Given the description of an element on the screen output the (x, y) to click on. 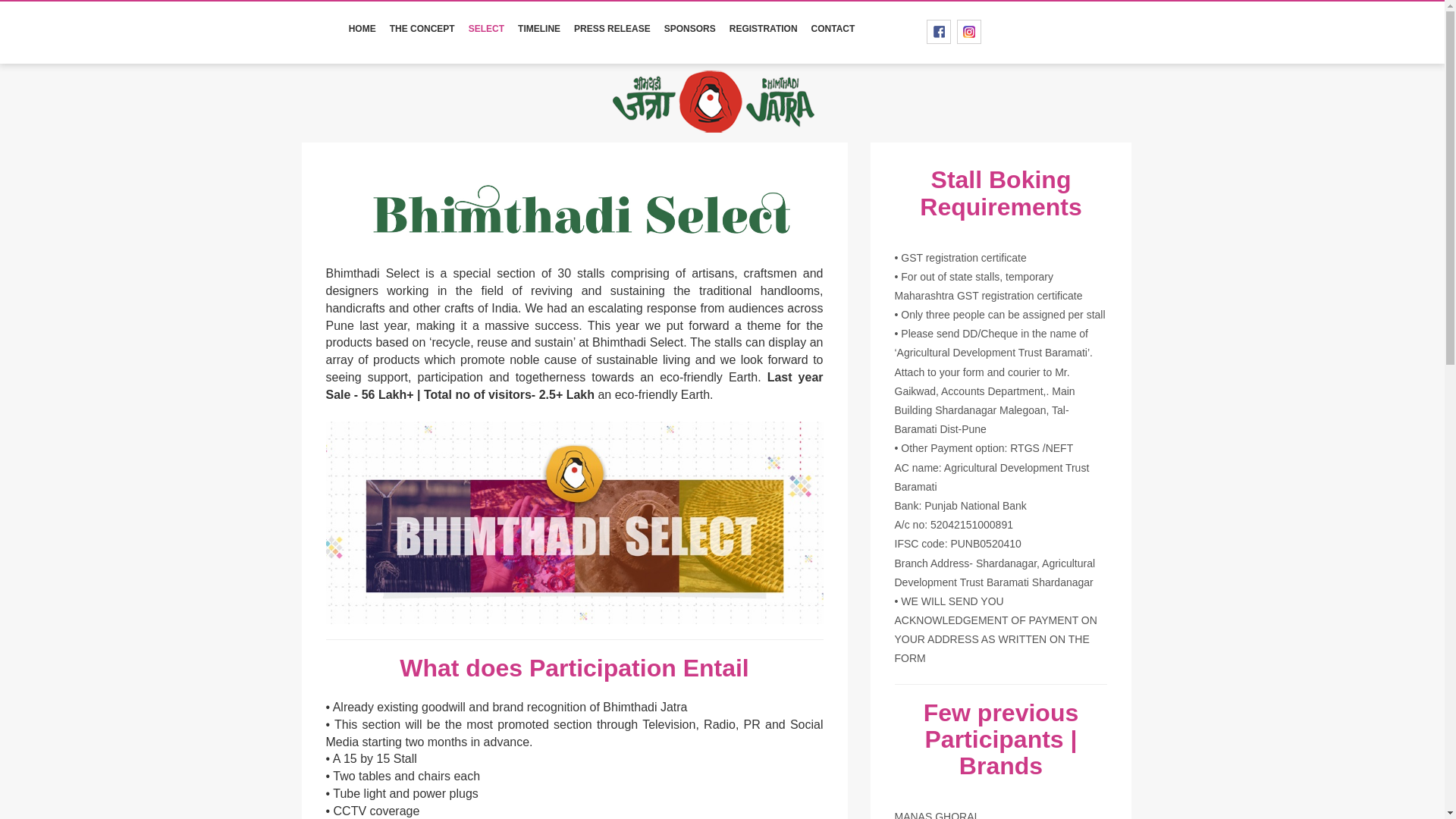
PRESS RELEASE (612, 28)
REGISTRATION (763, 28)
THE CONCEPT (421, 28)
SELECT (486, 28)
SPONSORS (690, 28)
TIMELINE (539, 28)
CONTACT (833, 28)
HOME (362, 28)
